Given the description of an element on the screen output the (x, y) to click on. 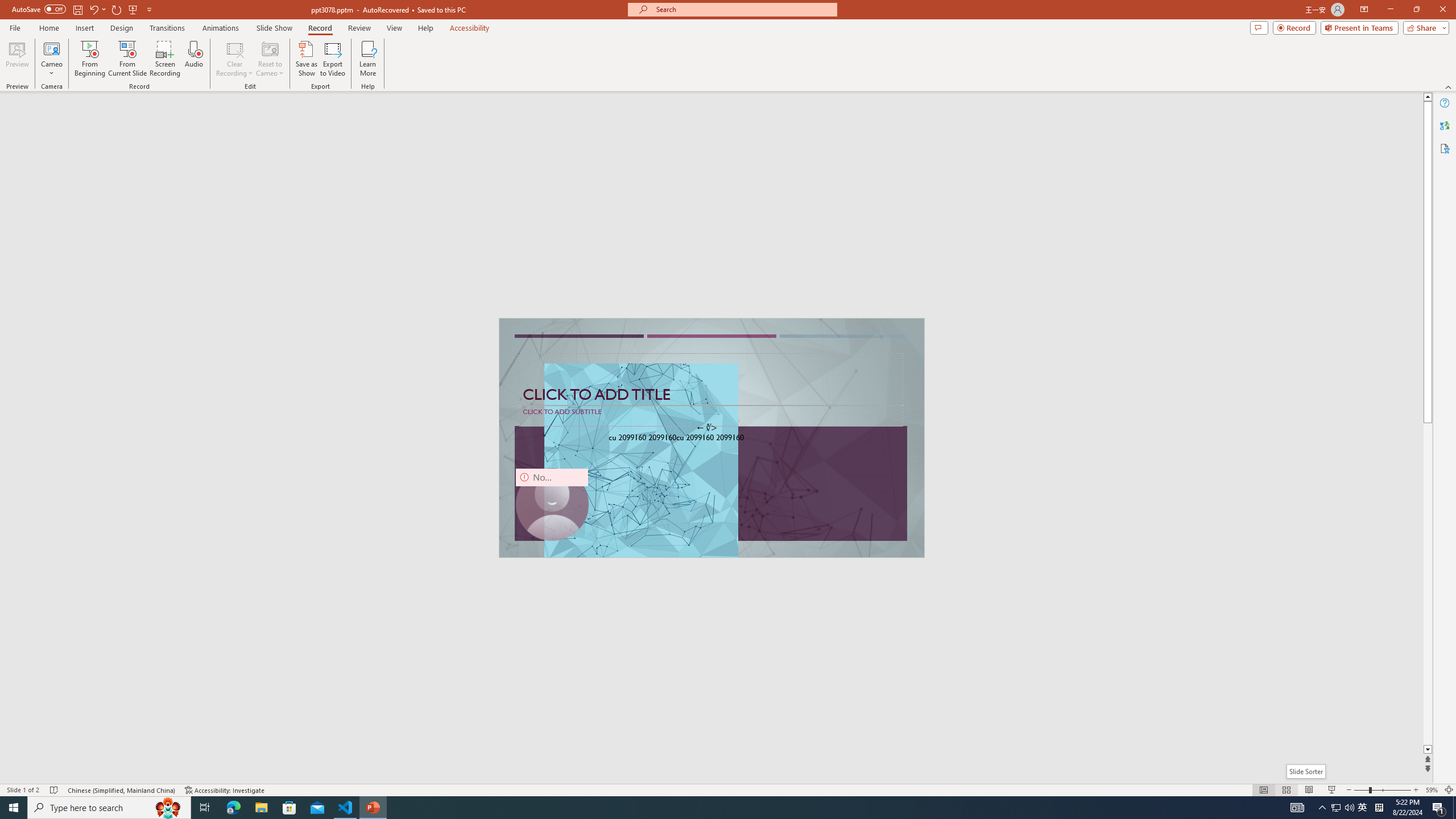
Reset to Cameo (269, 58)
From Current Slide... (127, 58)
